Given the description of an element on the screen output the (x, y) to click on. 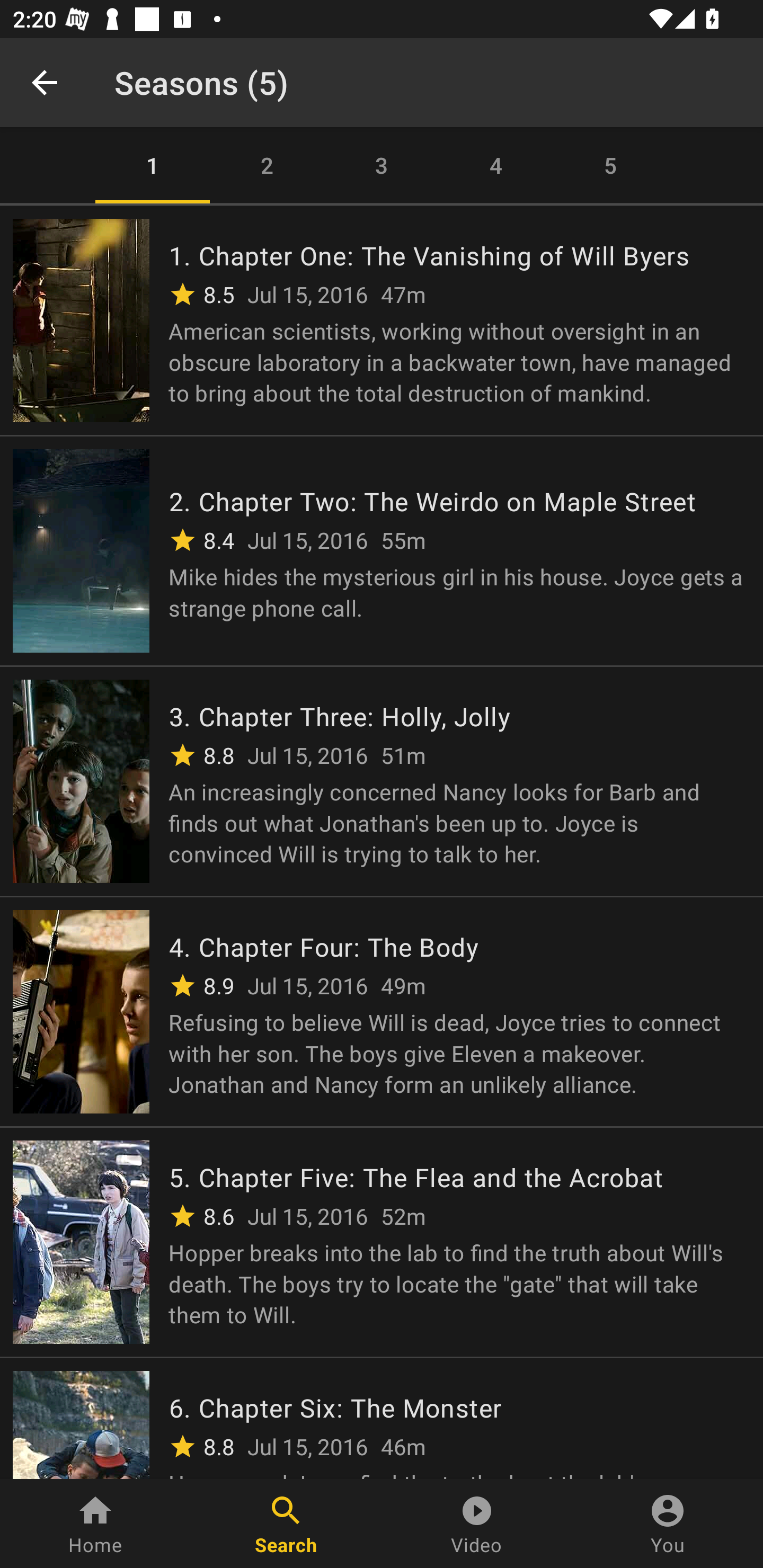
2 (266, 165)
3 (381, 165)
4 (495, 165)
5 (610, 165)
Home (95, 1523)
Video (476, 1523)
You (667, 1523)
